Given the description of an element on the screen output the (x, y) to click on. 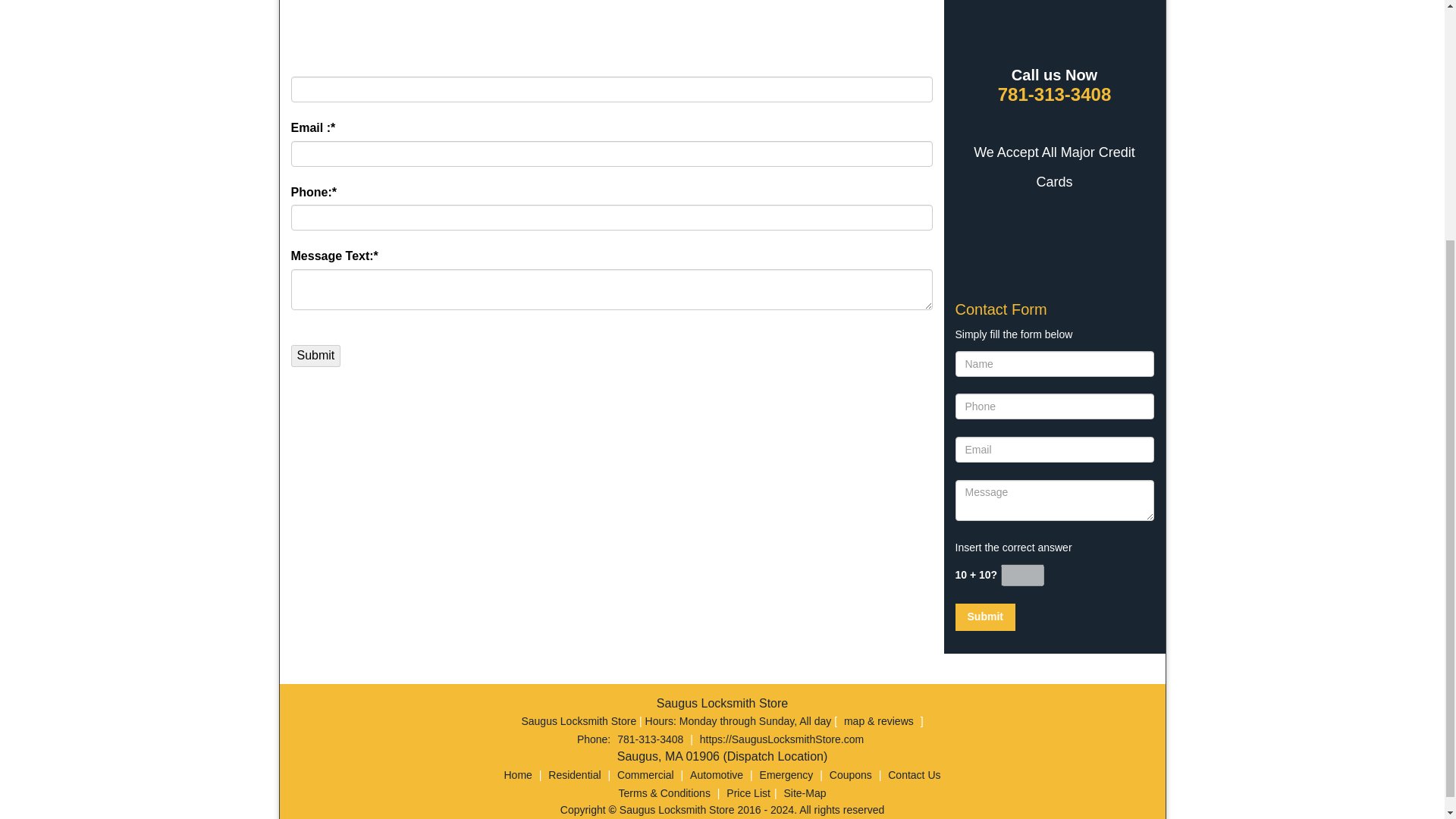
781-313-3408 (649, 739)
Phone Field required (1054, 406)
Name Field required (1054, 363)
Submit (984, 616)
Home (517, 775)
Email Field required (1054, 449)
Submit (984, 616)
781-313-3408 (1053, 95)
Message Field require (1054, 499)
Name Field required (612, 89)
